Given the description of an element on the screen output the (x, y) to click on. 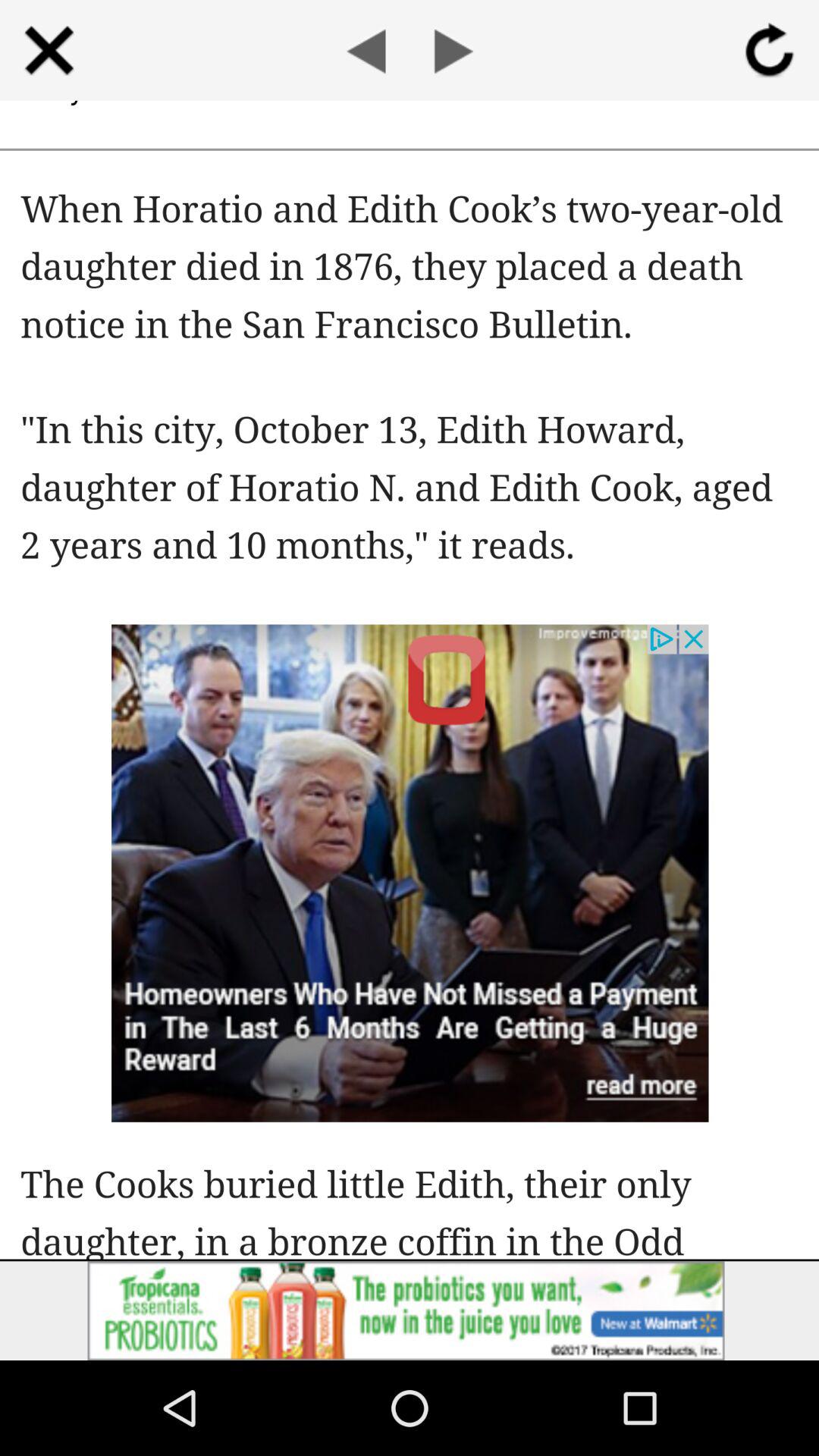
refresh content (769, 49)
